Given the description of an element on the screen output the (x, y) to click on. 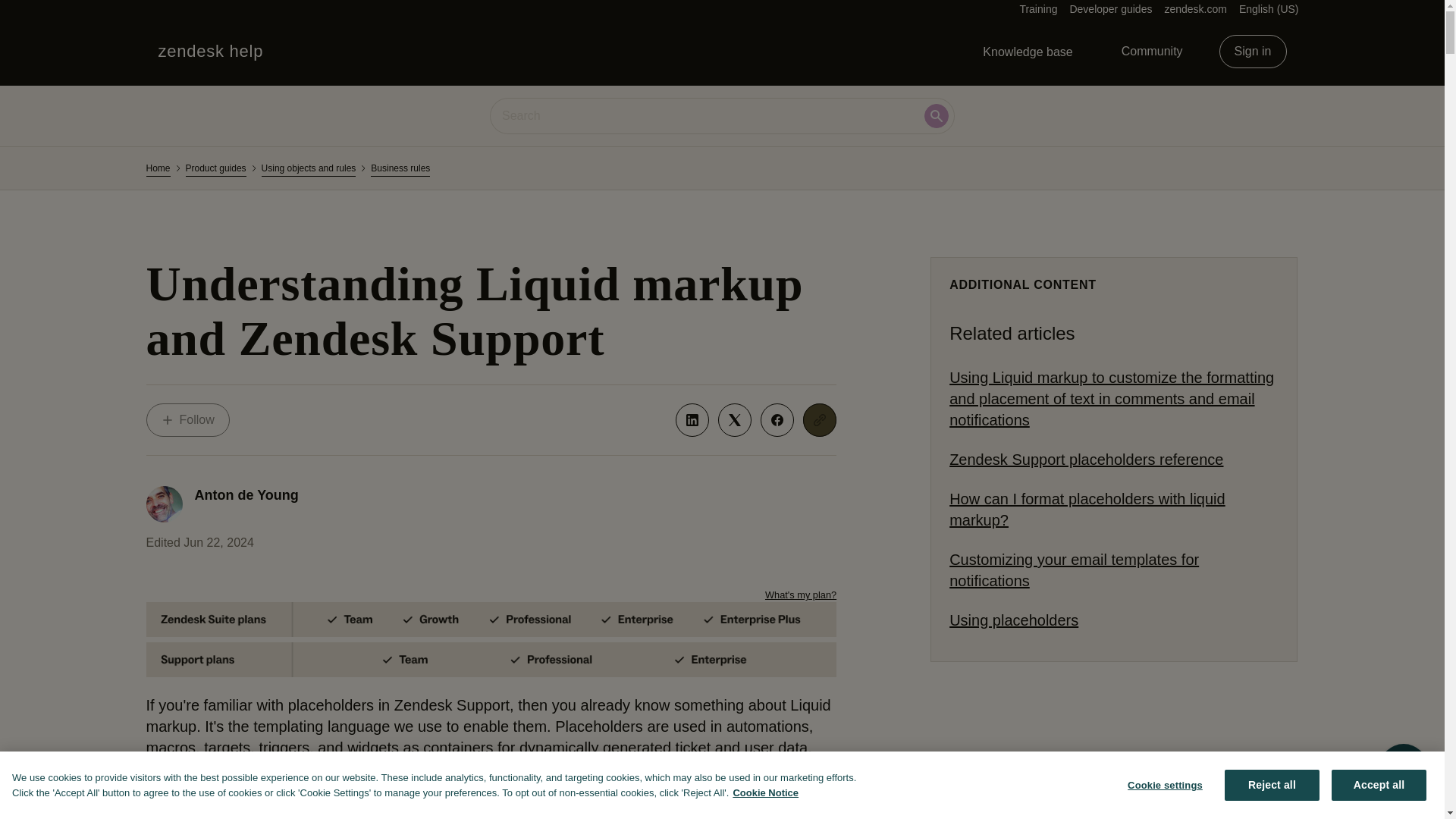
What's my plan? (800, 594)
Sign in (1253, 51)
zendesk.com (1194, 9)
Training (1038, 9)
zendesk help (210, 51)
Home (157, 168)
Product guides (216, 168)
Community (1152, 51)
Developer guides (1109, 9)
Anton de Young (245, 494)
Business rules (186, 419)
Using objects and rules (400, 168)
